Given the description of an element on the screen output the (x, y) to click on. 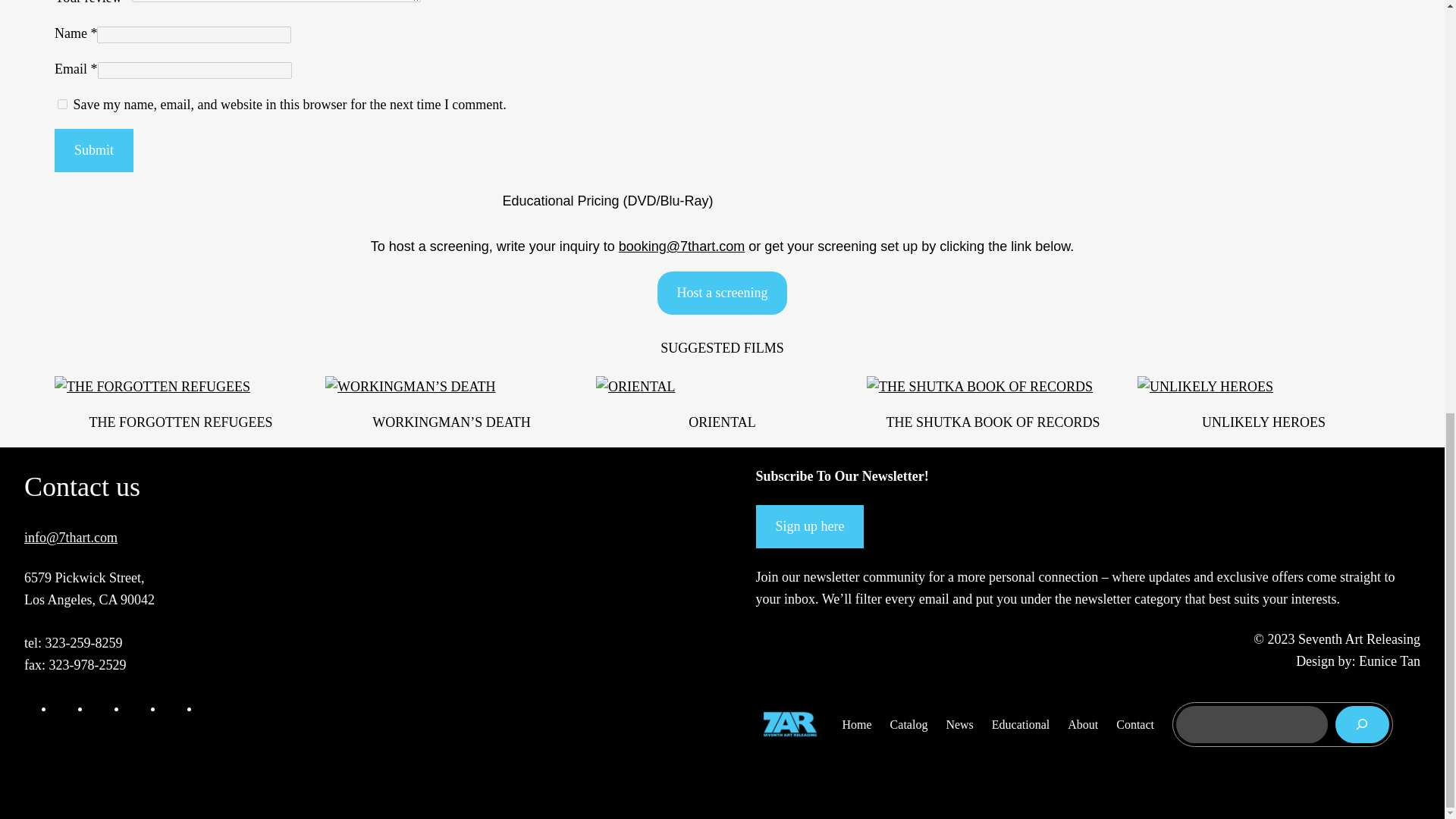
Facebook (63, 708)
Sign up here (809, 526)
THE FORGOTTEN REFUGEES (180, 421)
Vimeo (172, 708)
TikTok (209, 708)
yes (62, 103)
UNLIKELY HEROES (1263, 421)
Submit (94, 149)
LinkedIn (136, 708)
ORIENTAL (721, 421)
Submit (94, 149)
Instagram (99, 708)
Host a screening (722, 292)
THE SHUTKA BOOK OF RECORDS (992, 421)
